Given the description of an element on the screen output the (x, y) to click on. 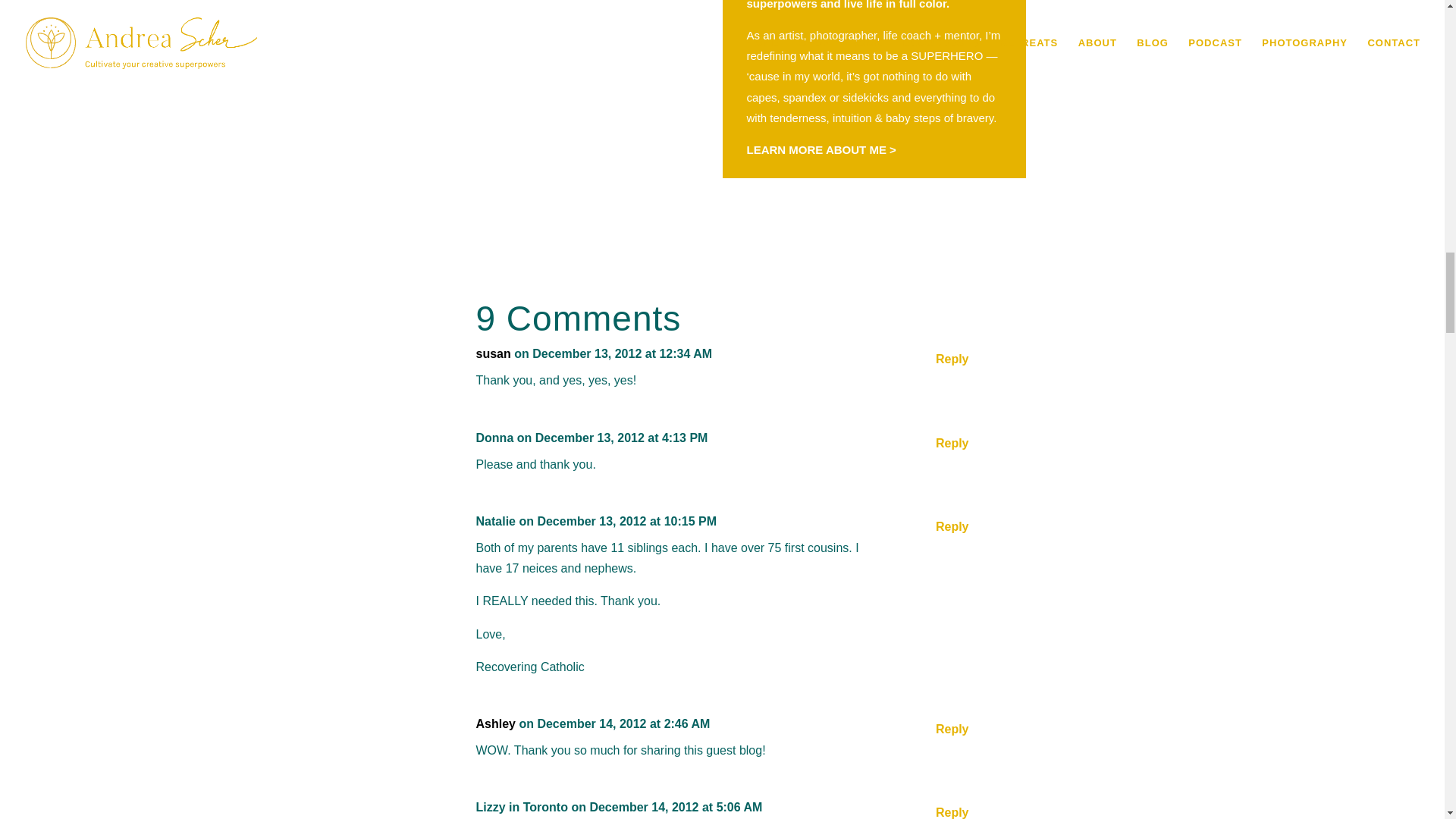
Reply (952, 526)
Ashley (495, 723)
Reply (952, 443)
Reply (952, 729)
Reply (952, 358)
About (820, 149)
susan (493, 353)
Reply (952, 810)
